Given the description of an element on the screen output the (x, y) to click on. 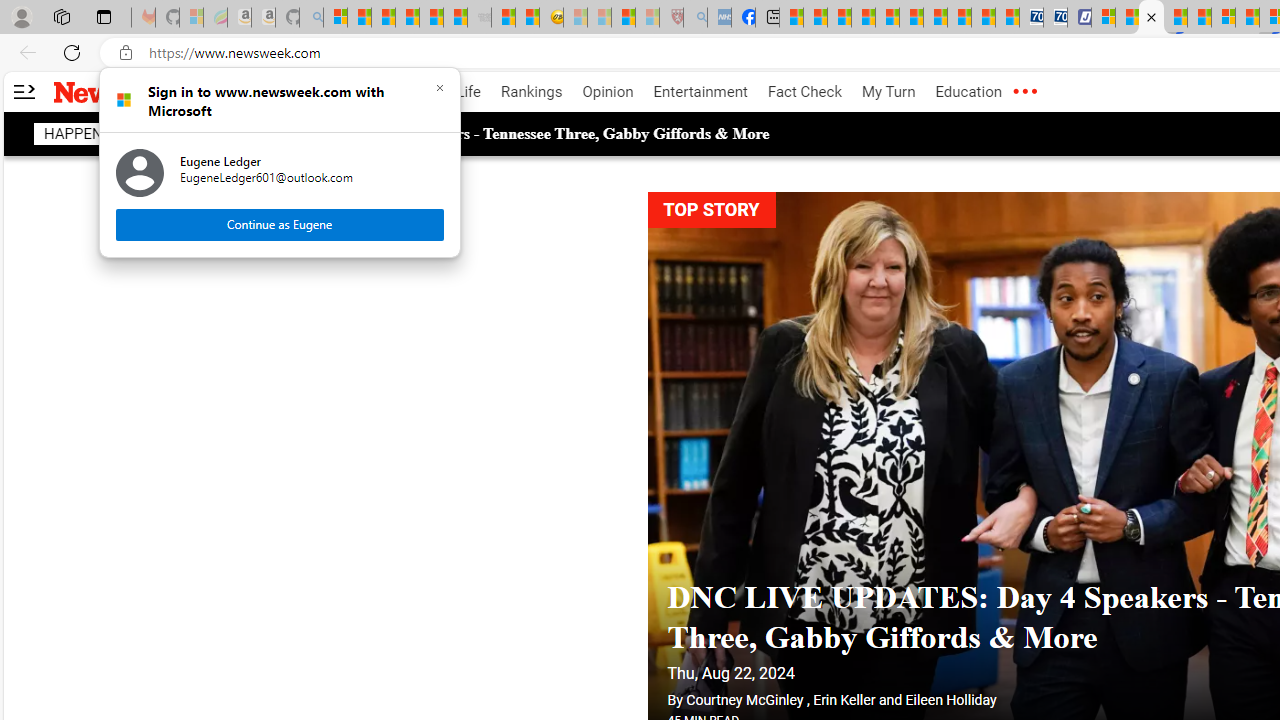
Rankings (532, 92)
Opinion (607, 92)
